Given the description of an element on the screen output the (x, y) to click on. 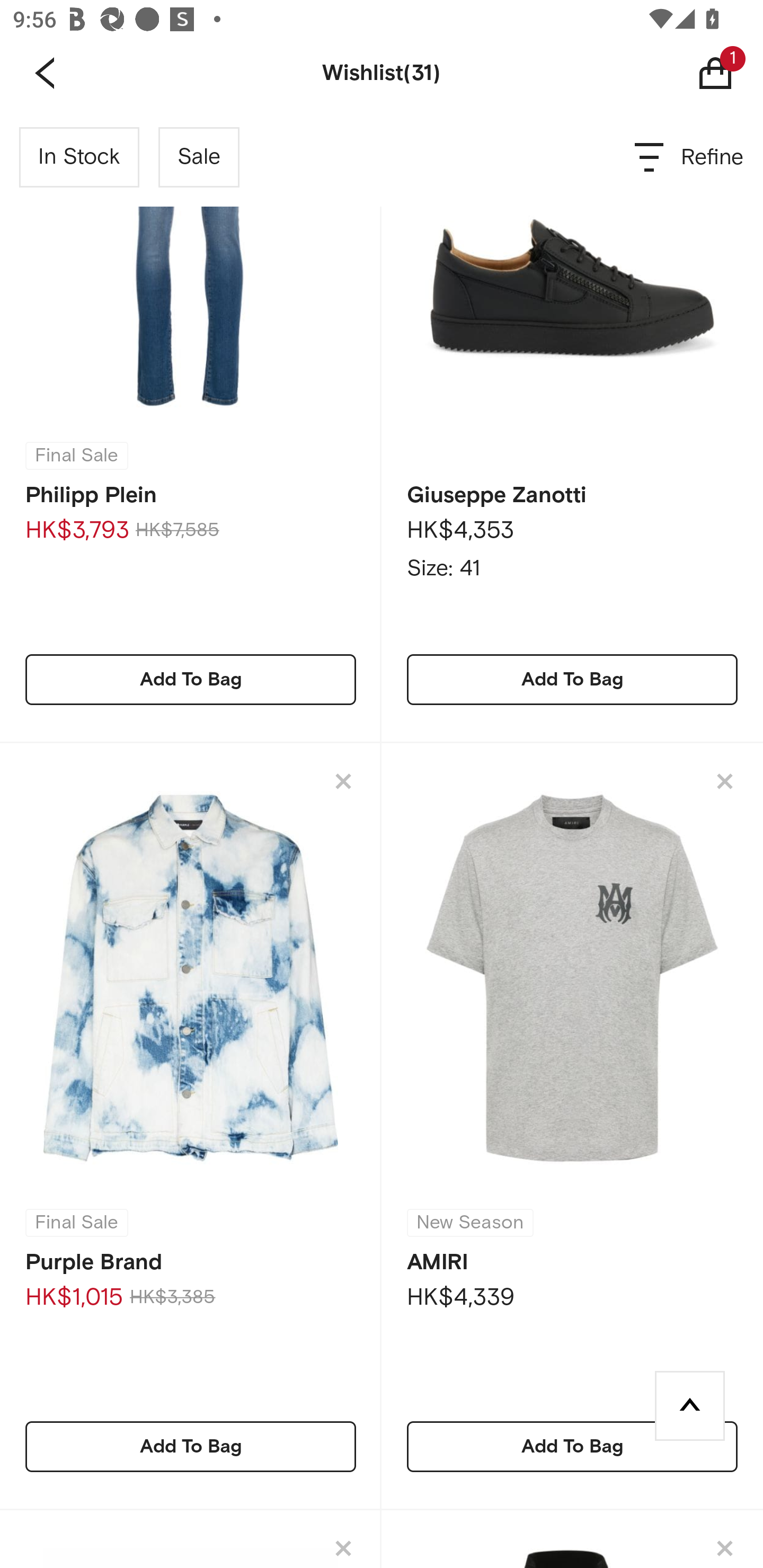
1 (729, 72)
Giuseppe Zanotti HK$4,353 Size: 41 Add To Bag (572, 425)
In Stock (79, 157)
Sale (198, 157)
Refine (690, 157)
Add To Bag (190, 679)
Add To Bag (571, 679)
New Season AMIRI HK$4,339 Add To Bag (572, 1126)
Add To Bag (190, 1446)
Add To Bag (571, 1446)
